Given the description of an element on the screen output the (x, y) to click on. 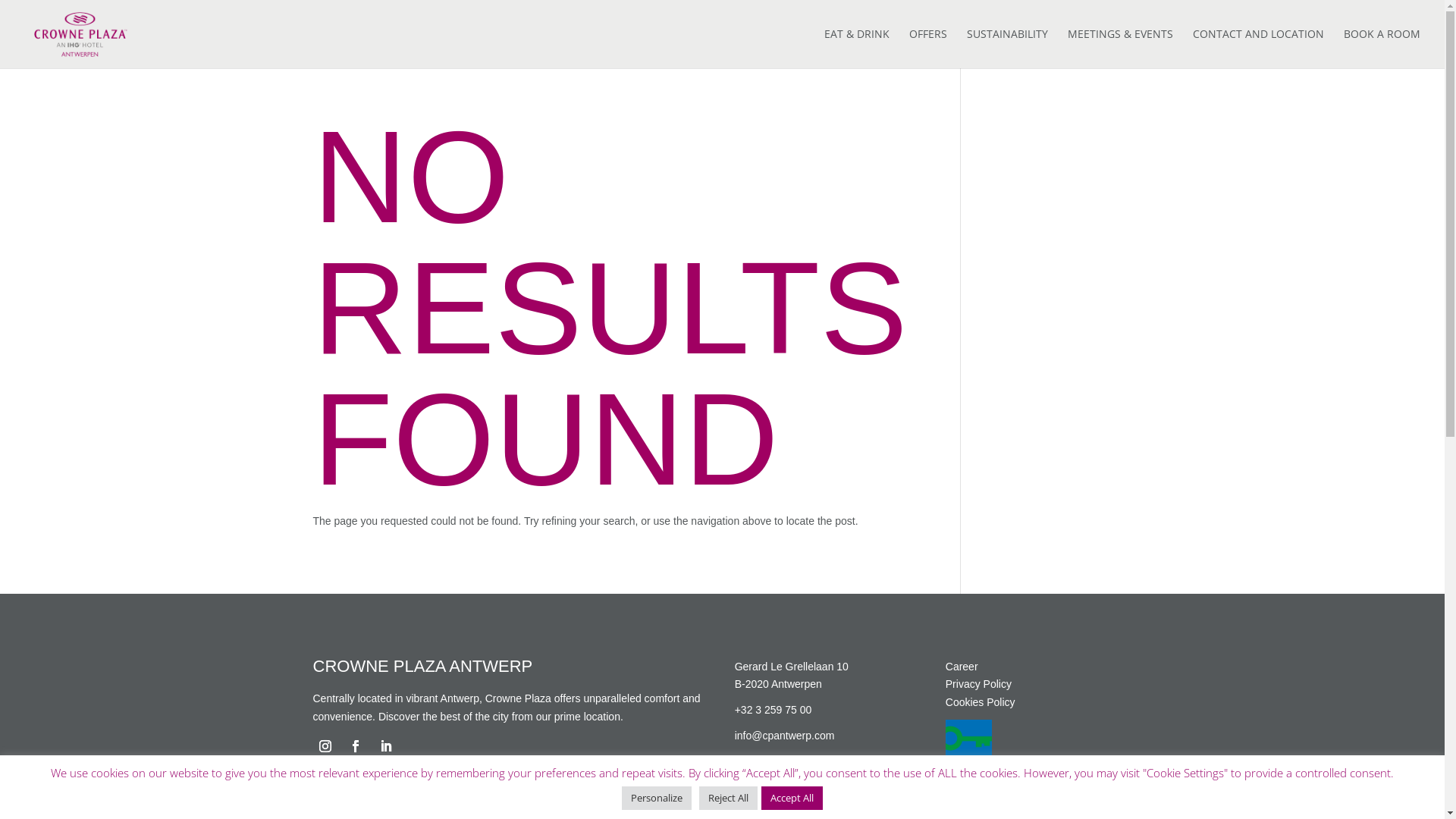
Follow on Facebook Element type: hover (354, 746)
Reject All Element type: text (728, 797)
Personalize Element type: text (656, 797)
Follow on Instagram Element type: hover (324, 746)
MEETINGS & EVENTS Element type: text (1120, 48)
+32 3 259 75 00 Element type: text (773, 709)
OFFERS Element type: text (928, 48)
Follow on LinkedIn Element type: hover (385, 746)
Gerard Le Grellelaan 10
B-2020 Antwerpen Element type: text (791, 675)
BOOK A ROOM Element type: text (1381, 48)
CONTACT AND LOCATION Element type: text (1258, 48)
EAT & DRINK Element type: text (856, 48)
Logo-Green-Key Element type: hover (968, 748)
SUSTAINABILITY Element type: text (1007, 48)
info@cpantwerp.com Element type: text (784, 735)
Accept All Element type: text (791, 797)
